Given the description of an element on the screen output the (x, y) to click on. 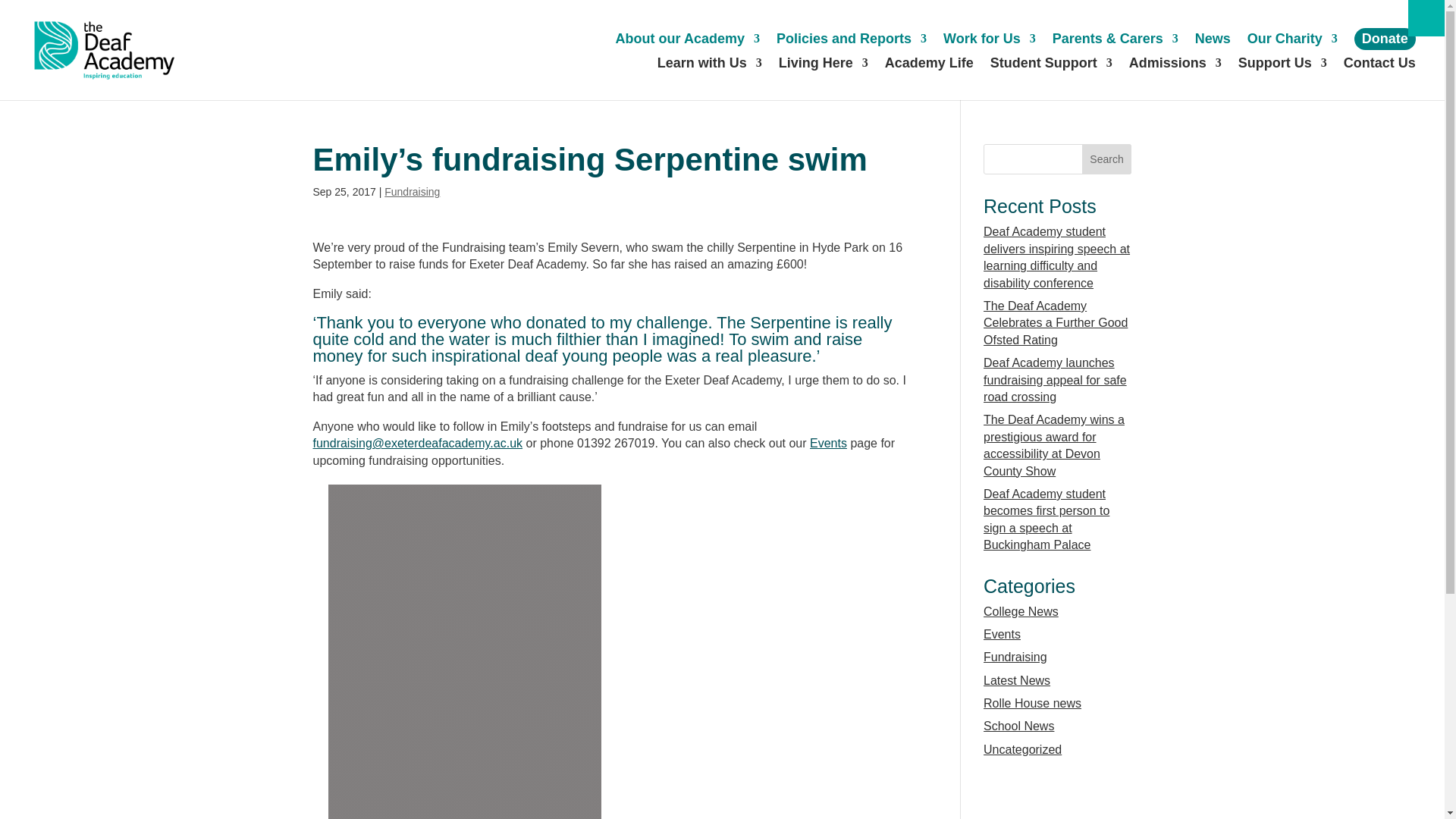
Donate (1384, 38)
Our Charity (1292, 41)
Work for Us (989, 41)
Living Here (822, 65)
Academy Life (929, 65)
Search (1106, 159)
About our Academy (687, 41)
Student Support (1051, 65)
Learn with Us (709, 65)
News (1212, 41)
Policies and Reports (851, 41)
